Given the description of an element on the screen output the (x, y) to click on. 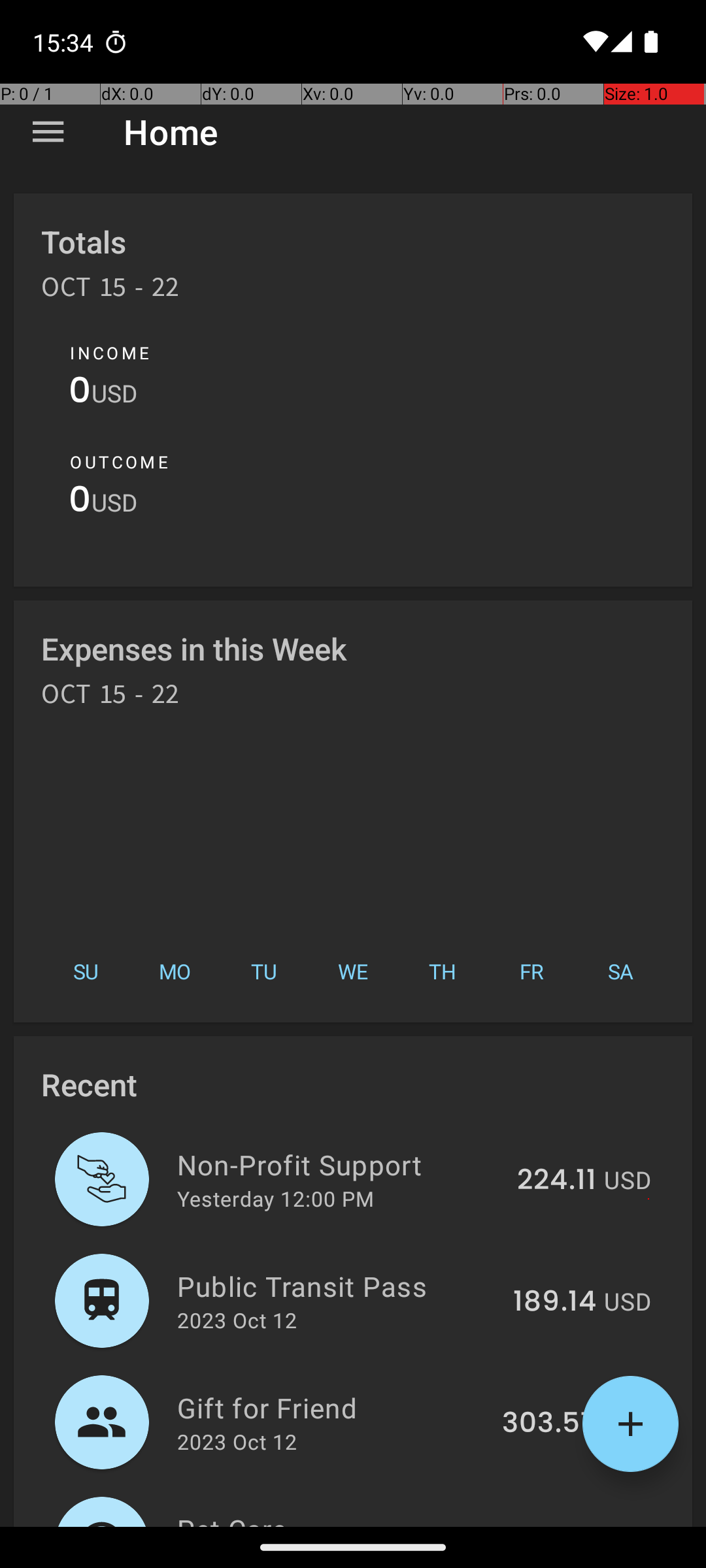
Non-Profit Support Element type: android.widget.TextView (339, 1164)
Yesterday 12:00 PM Element type: android.widget.TextView (275, 1198)
224.11 Element type: android.widget.TextView (556, 1180)
Public Transit Pass Element type: android.widget.TextView (337, 1285)
189.14 Element type: android.widget.TextView (554, 1301)
303.57 Element type: android.widget.TextView (548, 1423)
Pet Care Element type: android.widget.TextView (343, 1518)
38.14 Element type: android.widget.TextView (560, 1524)
